Given the description of an element on the screen output the (x, y) to click on. 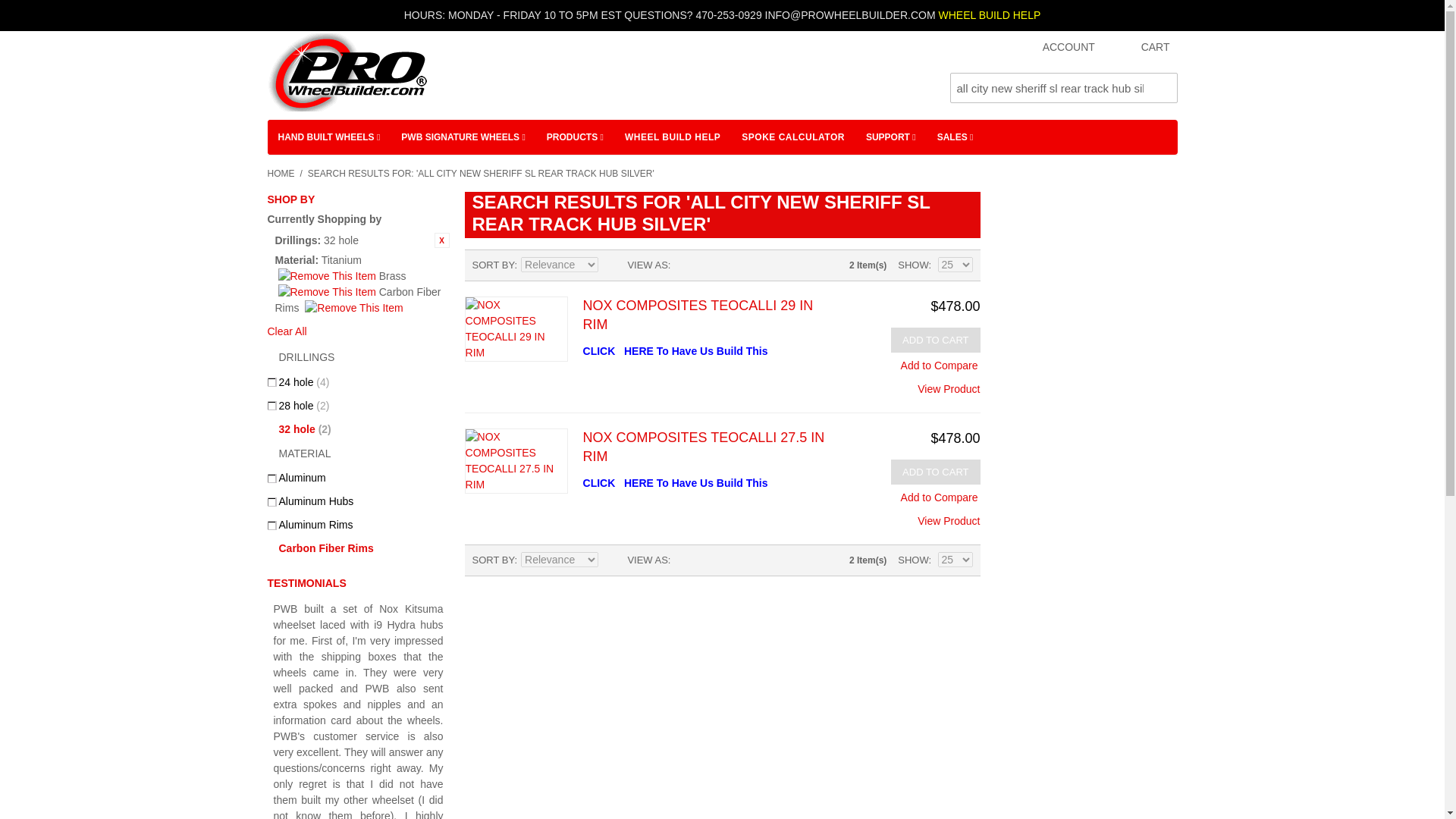
all city new sheriff sl rear track hub silver (1062, 87)
PWB SIGNATURE WHEELS (462, 136)
NOX COMPOSITES TEOCALLI 29 IN RIM (515, 328)
ACCOUNT (1054, 47)
NOX COMPOSITES TEOCALLI 29 IN RIM (948, 384)
Build Advice (989, 15)
Add to Cart (935, 339)
Remove This Item (440, 240)
Search (1161, 87)
CART (1141, 47)
